Given the description of an element on the screen output the (x, y) to click on. 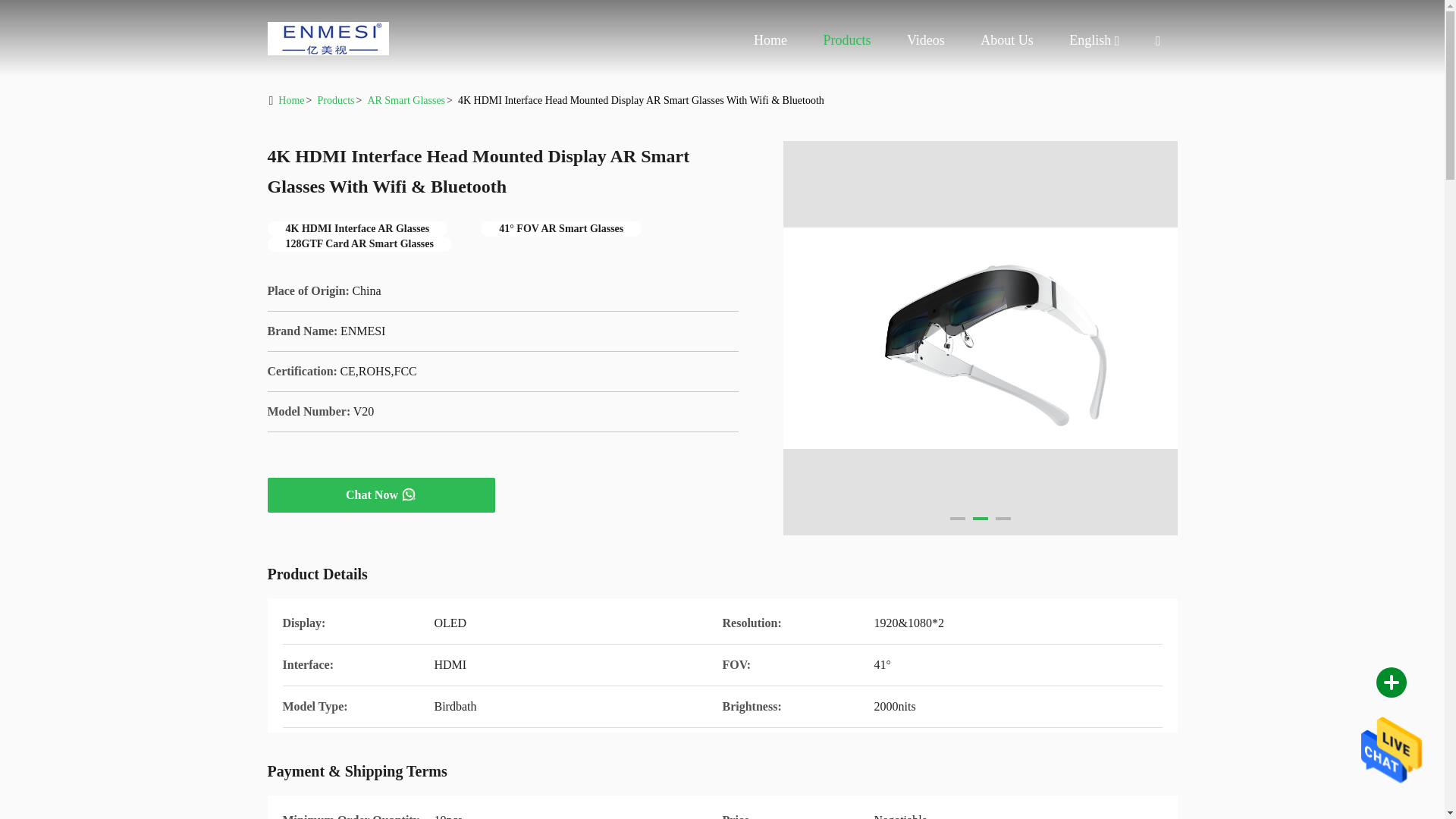
About Us (1006, 40)
Products (846, 40)
Products (846, 40)
About Us (1006, 40)
Home (327, 37)
About Us (1089, 40)
